Given the description of an element on the screen output the (x, y) to click on. 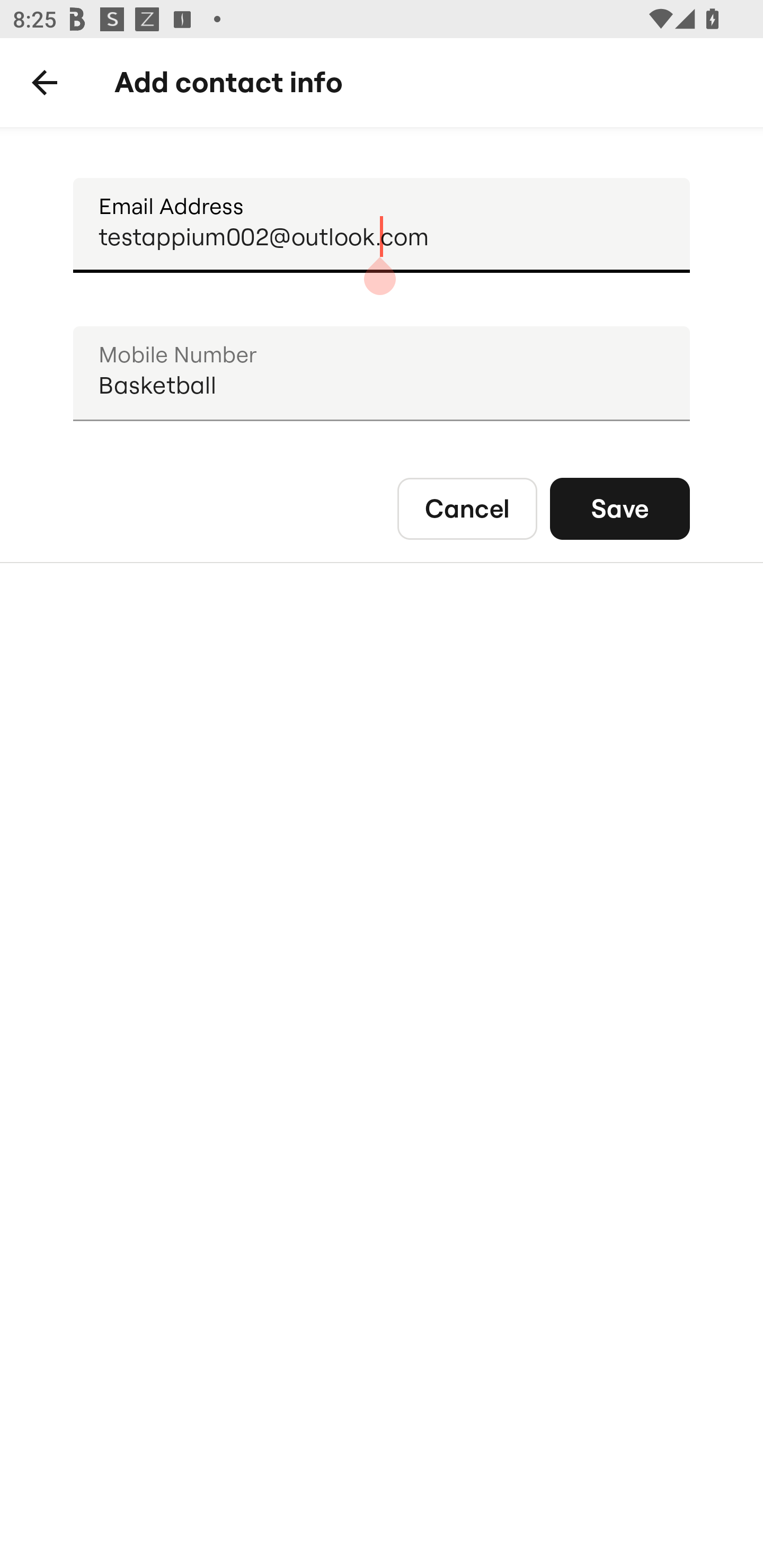
Back (44, 82)
testappium002@outlook.com (381, 225)
Basketball (381, 373)
Cancel (467, 508)
Save (619, 508)
